Given the description of an element on the screen output the (x, y) to click on. 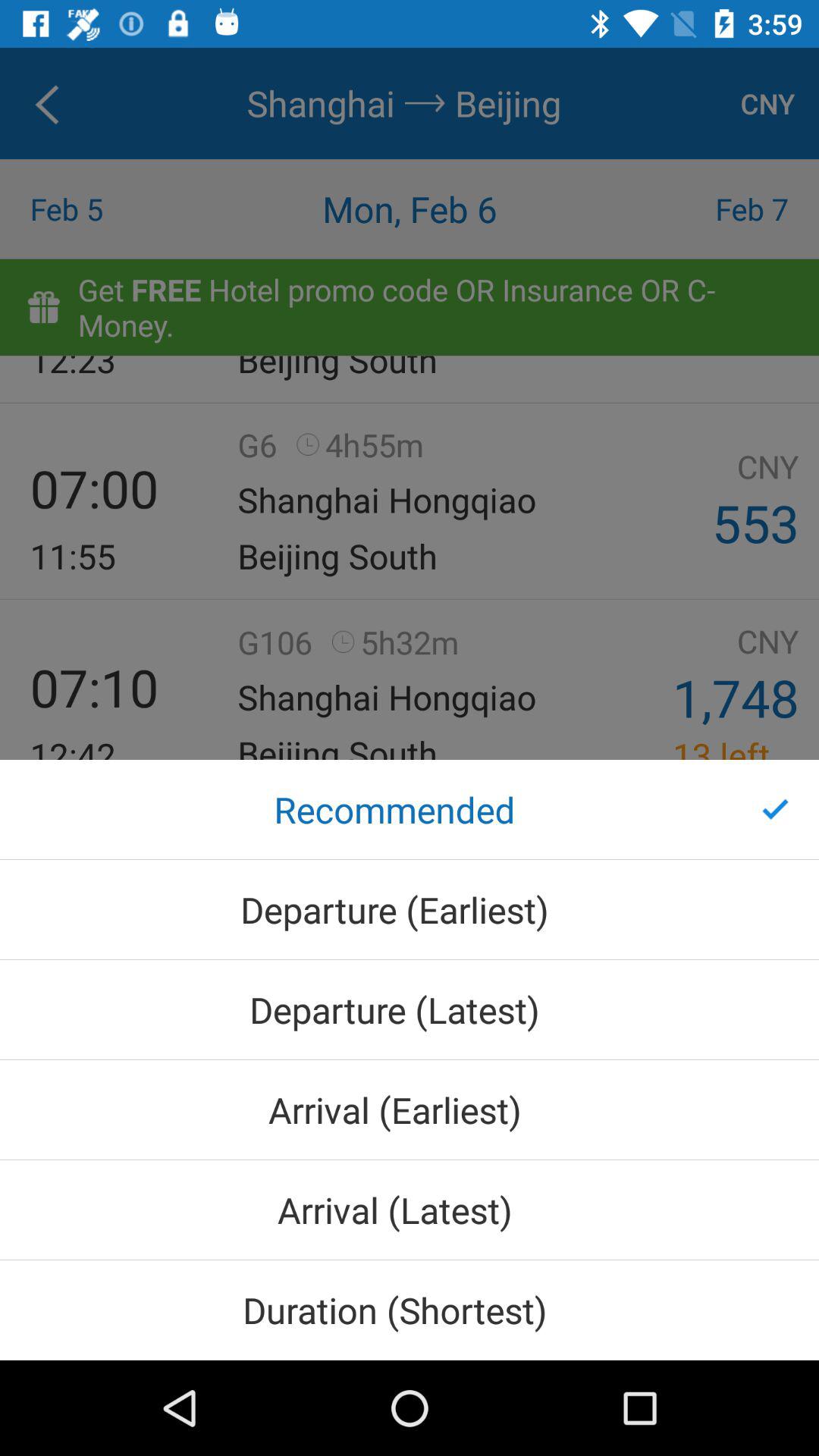
select icon below arrival (earliest) icon (409, 1209)
